Given the description of an element on the screen output the (x, y) to click on. 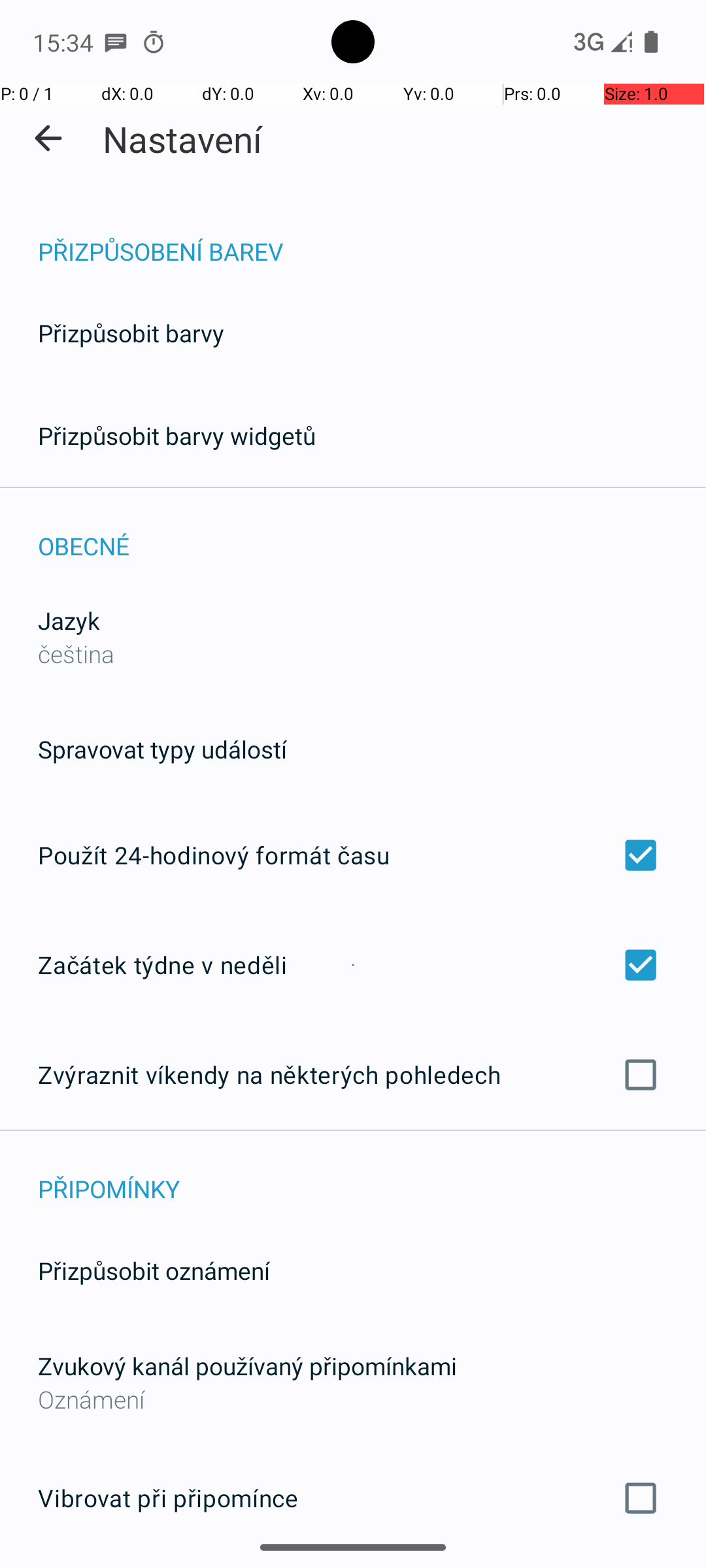
Nastavení Element type: android.widget.TextView (182, 138)
PŘIZPŮSOBENÍ BAREV Element type: android.widget.TextView (371, 237)
OBECNÉ Element type: android.widget.TextView (371, 532)
PŘIPOMÍNKY Element type: android.widget.TextView (371, 1174)
Přizpůsobit barvy Element type: android.widget.TextView (130, 332)
Přizpůsobit barvy widgetů Element type: android.widget.TextView (176, 435)
Jazyk Element type: android.widget.TextView (68, 620)
čeština Element type: android.widget.TextView (75, 653)
Spravovat typy událostí Element type: android.widget.TextView (161, 748)
Použít 24-hodinový formát času Element type: android.widget.CheckBox (352, 855)
Začátek týdne v neděli Element type: android.widget.CheckBox (352, 964)
Zvýraznit víkendy na některých pohledech Element type: android.widget.CheckBox (352, 1074)
Přizpůsobit oznámení Element type: android.widget.TextView (153, 1270)
Zvukový kanál používaný připomínkami Element type: android.widget.TextView (246, 1365)
Oznámení Element type: android.widget.TextView (352, 1398)
Vibrovat při připomínce Element type: android.widget.CheckBox (352, 1497)
Opakovat připomínky až do zamítnutí Element type: android.widget.CheckBox (352, 1567)
